Given the description of an element on the screen output the (x, y) to click on. 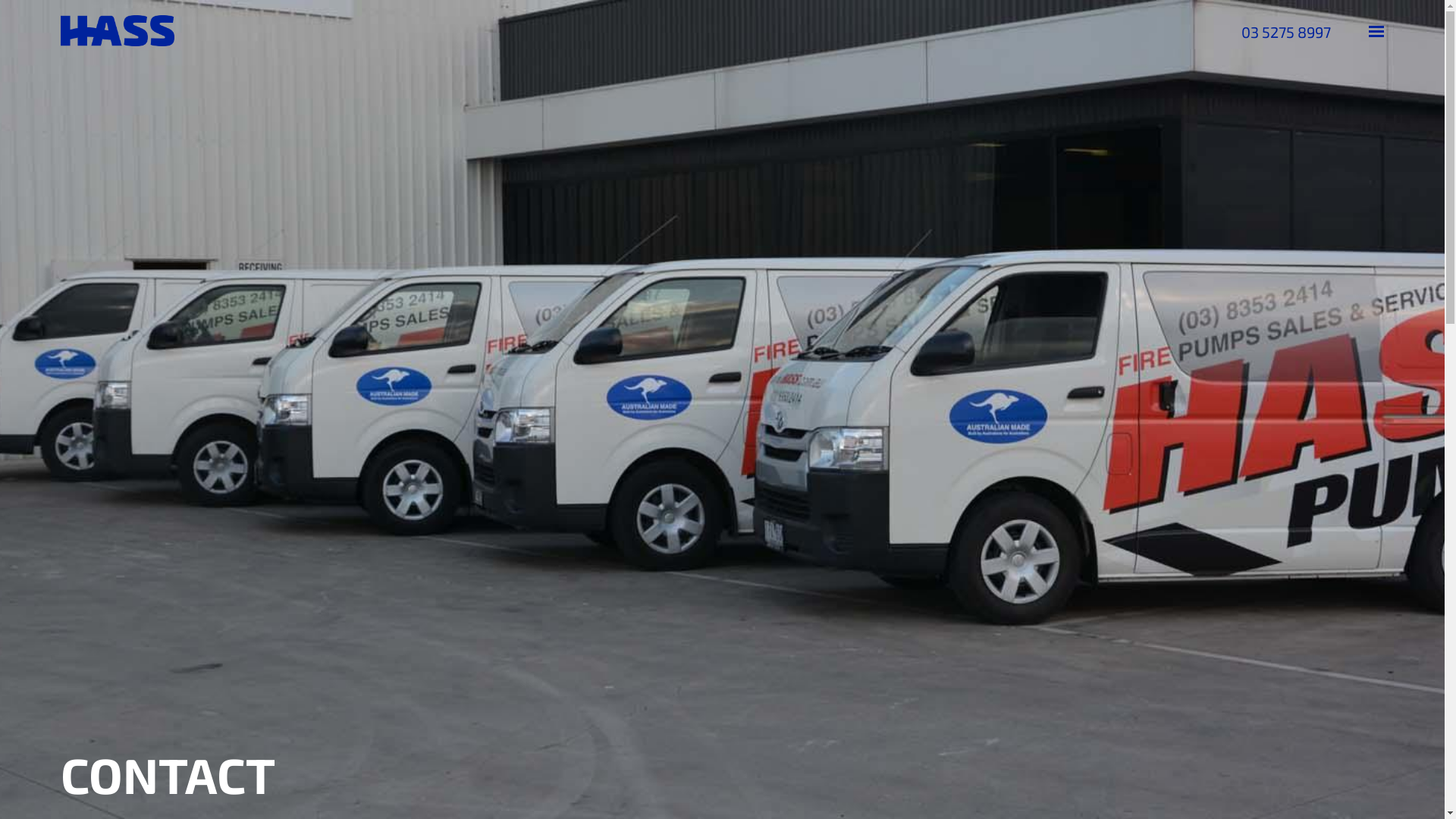
03 5275 8997 Element type: text (1285, 31)
